Given the description of an element on the screen output the (x, y) to click on. 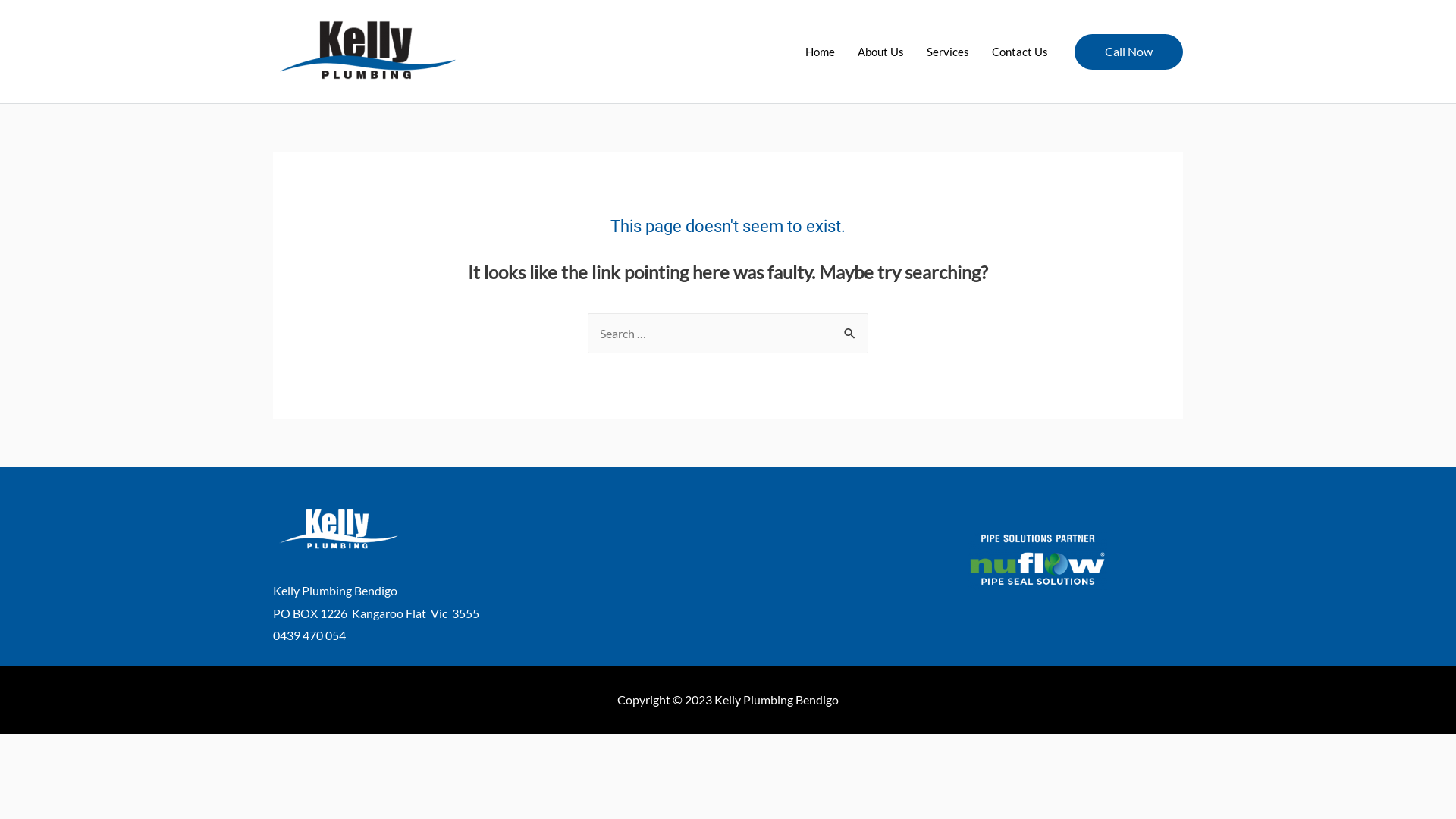
0439 470 054 Element type: text (309, 634)
Call Now Element type: text (1128, 51)
About Us Element type: text (880, 51)
Search Element type: text (851, 329)
Services Element type: text (947, 51)
Contact Us Element type: text (1019, 51)
Home Element type: text (819, 51)
